Given the description of an element on the screen output the (x, y) to click on. 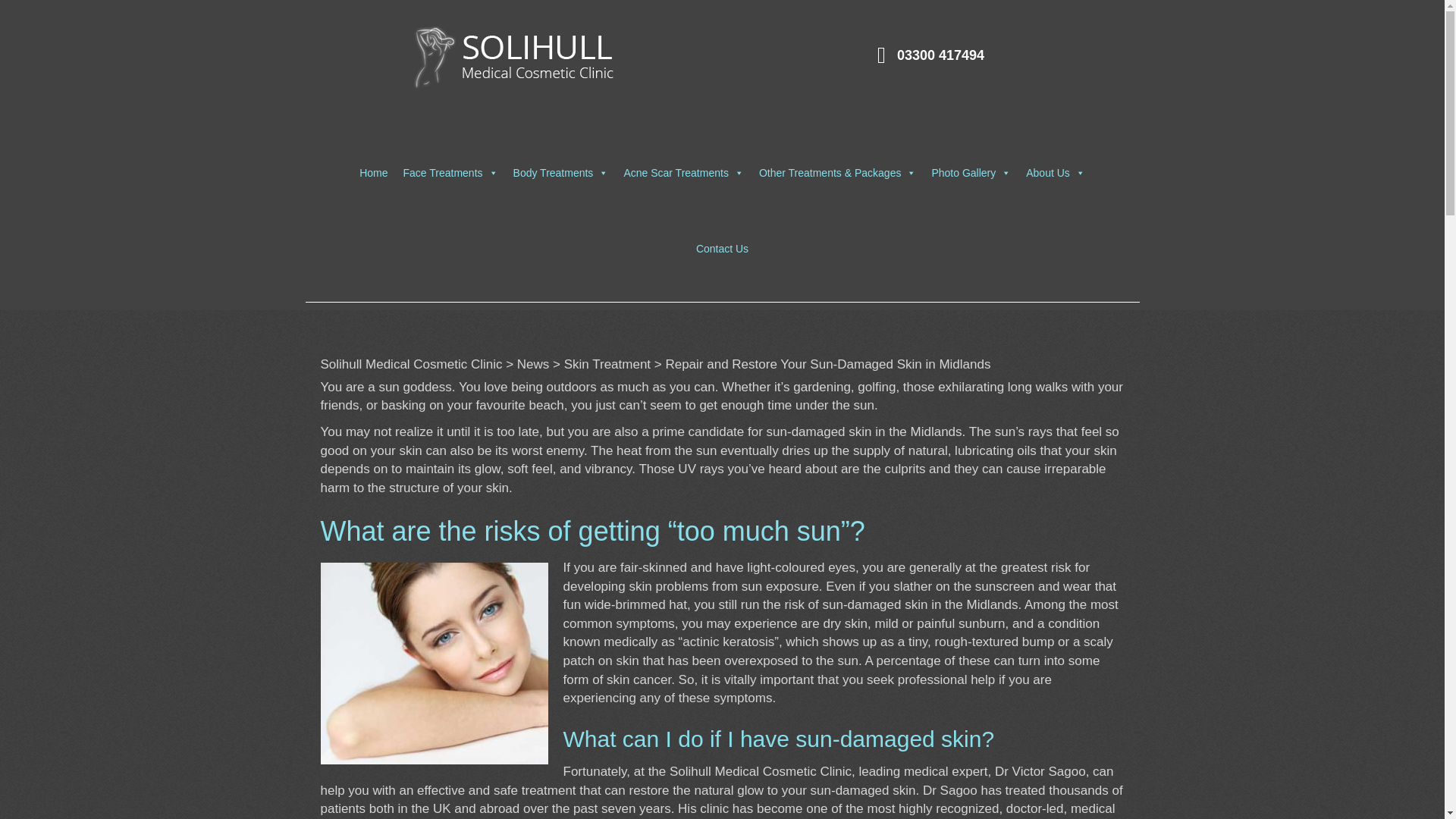
logo (513, 56)
03300 417494 (940, 55)
Go to News. (533, 364)
Skin Problems (723, 586)
Fair Skin (433, 663)
Go to the Skin Treatment Category archives. (607, 364)
Face Treatments (450, 172)
Go to Solihull Medical Cosmetic Clinic. (411, 364)
